Given the description of an element on the screen output the (x, y) to click on. 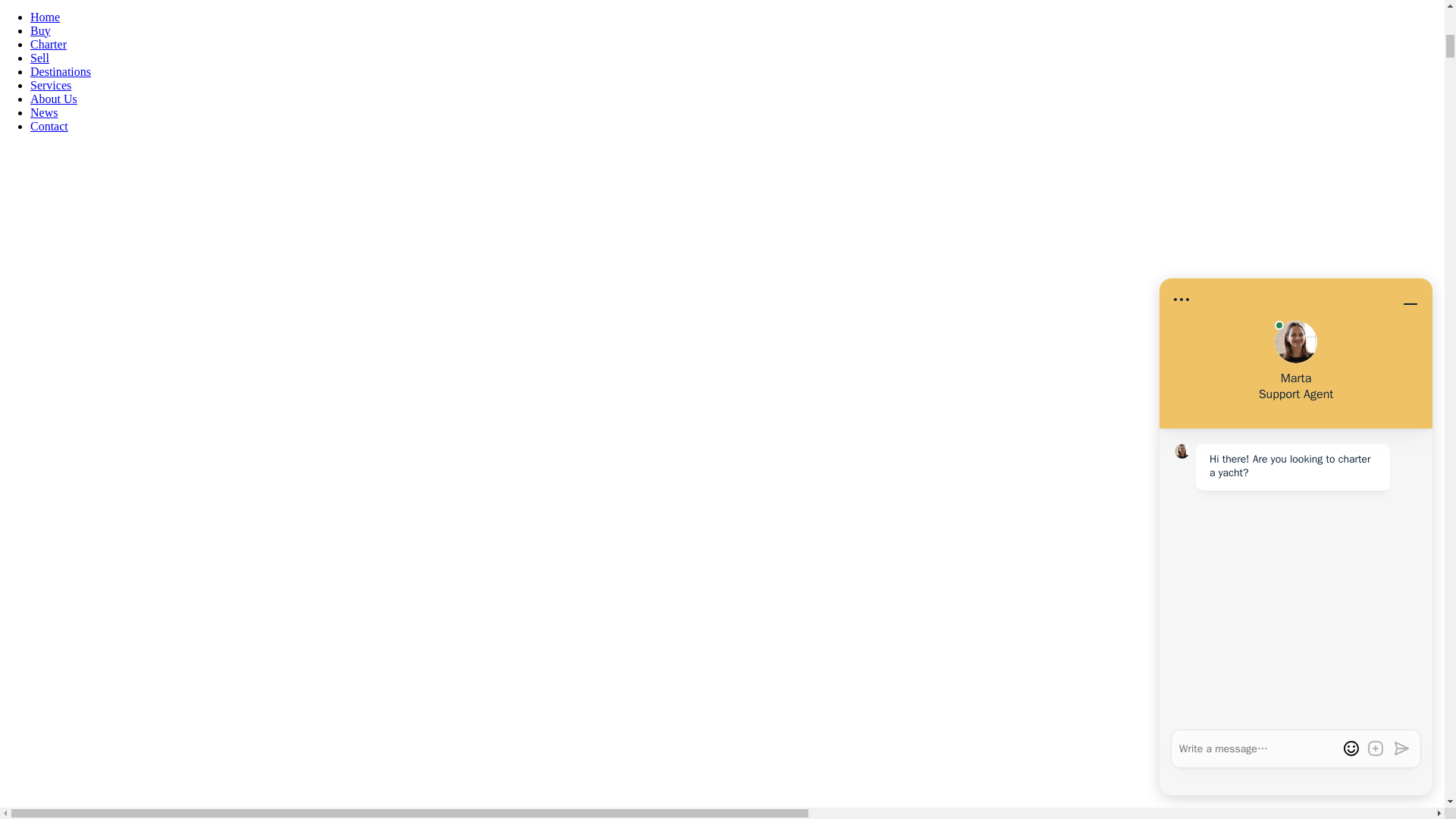
Charter (48, 43)
News (44, 112)
Home (44, 16)
About Us (53, 98)
Destinations (60, 71)
Services (50, 84)
Buy (40, 30)
Sell (39, 57)
Contact (49, 125)
